Given the description of an element on the screen output the (x, y) to click on. 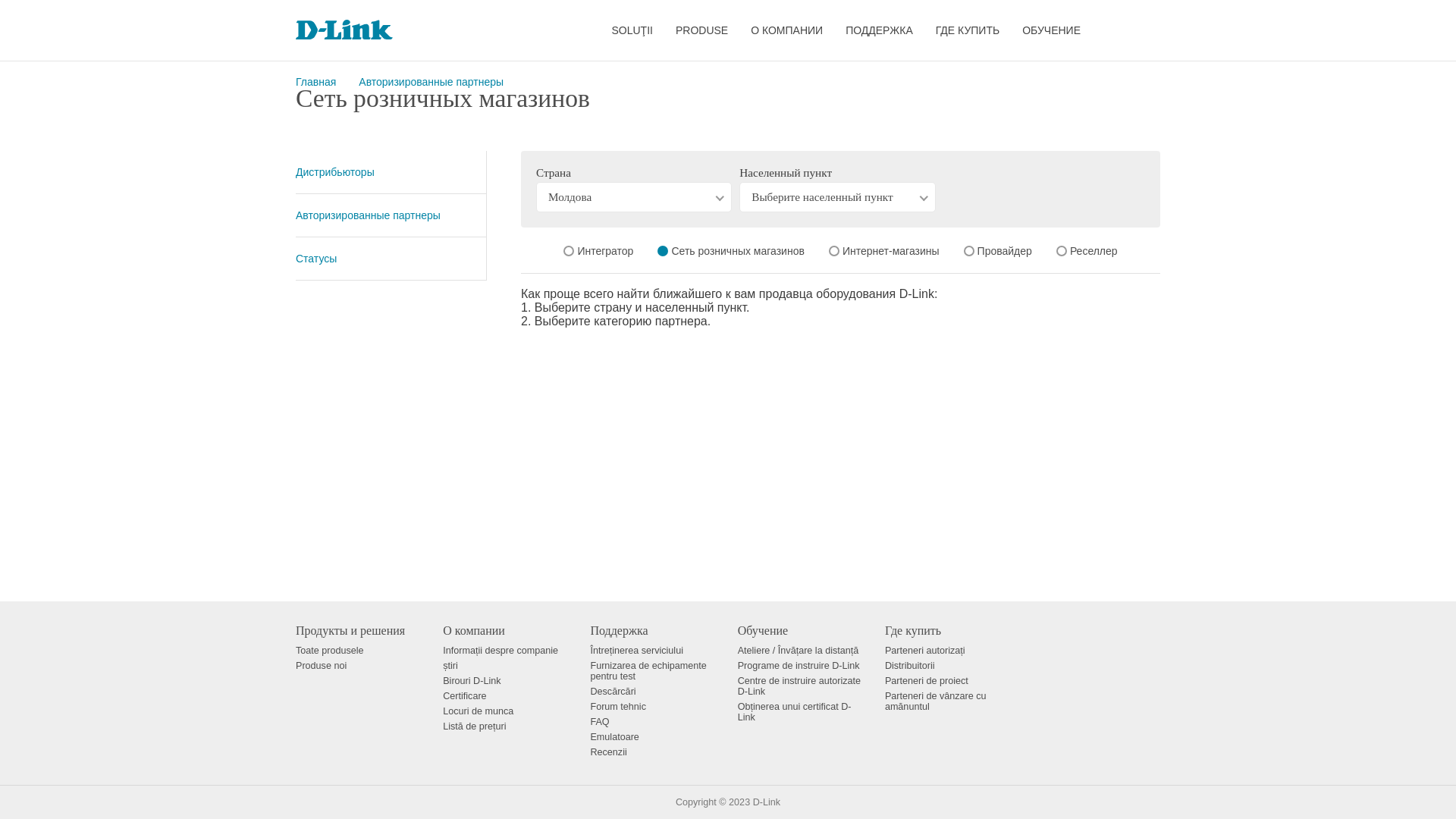
Parteneri de proiect Element type: text (926, 680)
Recenzii Element type: text (607, 751)
Furnizarea de echipamente pentru test Element type: text (647, 670)
Produse noi Element type: text (320, 665)
Certificare Element type: text (464, 695)
Centre de instruire autorizate D-Link Element type: text (798, 685)
Locuri de munca Element type: text (477, 711)
Birouri D-Link Element type: text (471, 680)
Emulatoare Element type: text (613, 736)
Programe de instruire D-Link Element type: text (798, 665)
D-Link Element type: text (766, 802)
Forum tehnic Element type: text (617, 706)
Distribuitorii Element type: text (909, 665)
PRODUSE Element type: text (701, 30)
Toate produsele Element type: text (329, 650)
FAQ Element type: text (598, 721)
